Given the description of an element on the screen output the (x, y) to click on. 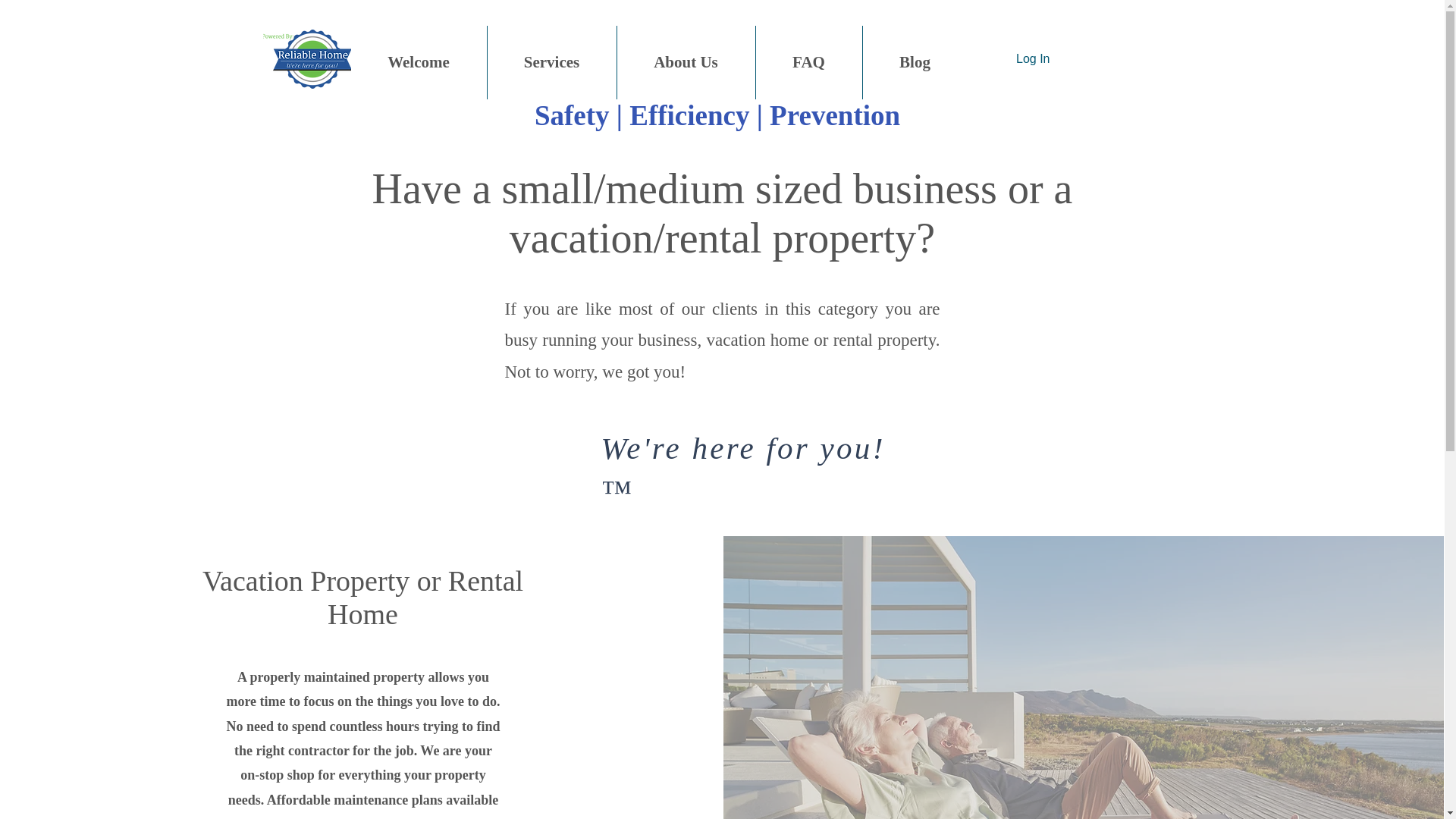
FAQ (808, 62)
About Us (686, 62)
Trusted Handyman and Preventative Maintenance (306, 58)
Blog (915, 62)
Log In (1032, 58)
Welcome (418, 62)
